Given the description of an element on the screen output the (x, y) to click on. 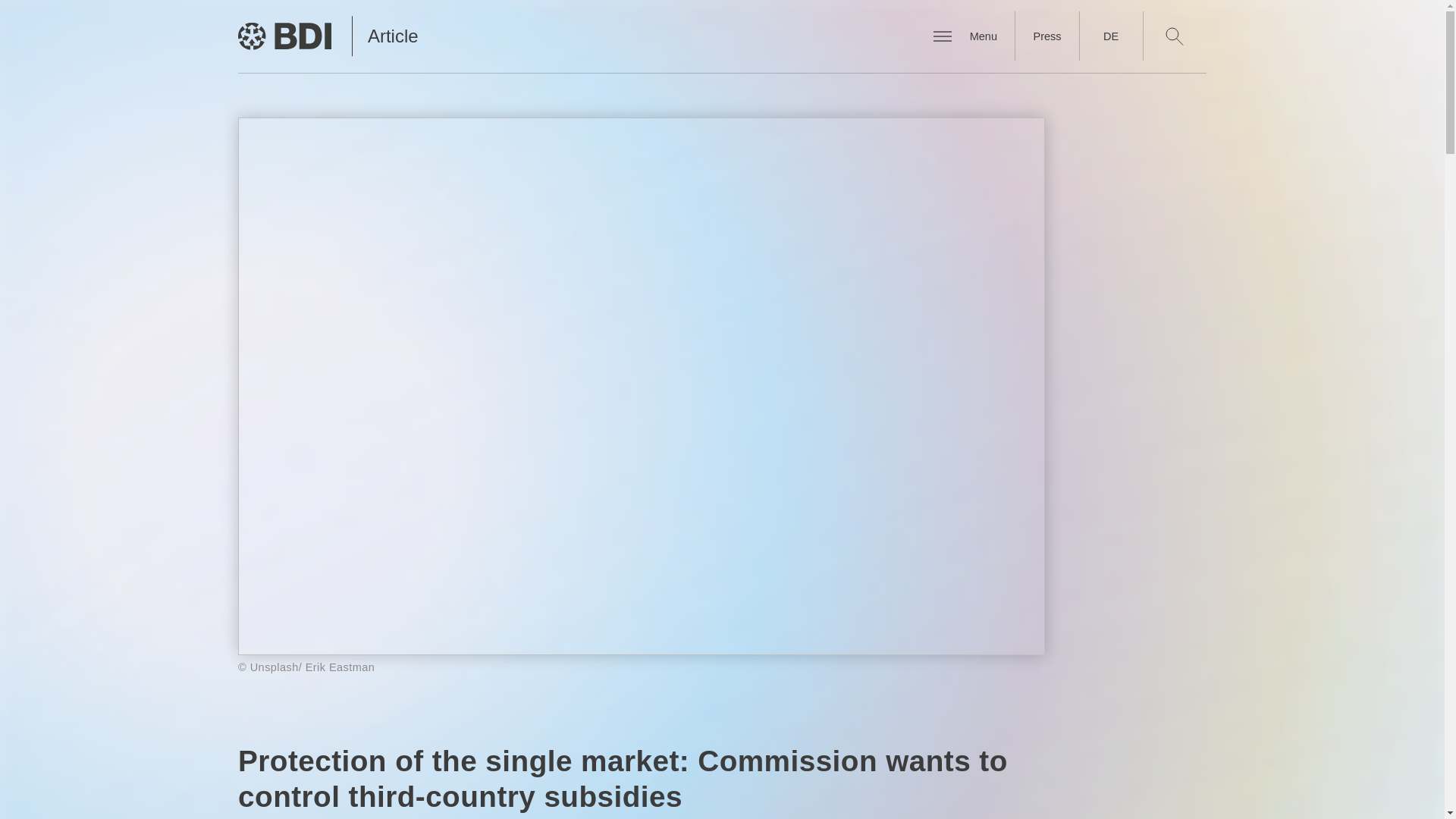
Search (1174, 36)
DE (1110, 36)
Press (1046, 36)
BDI (284, 36)
Menu (983, 36)
